Given the description of an element on the screen output the (x, y) to click on. 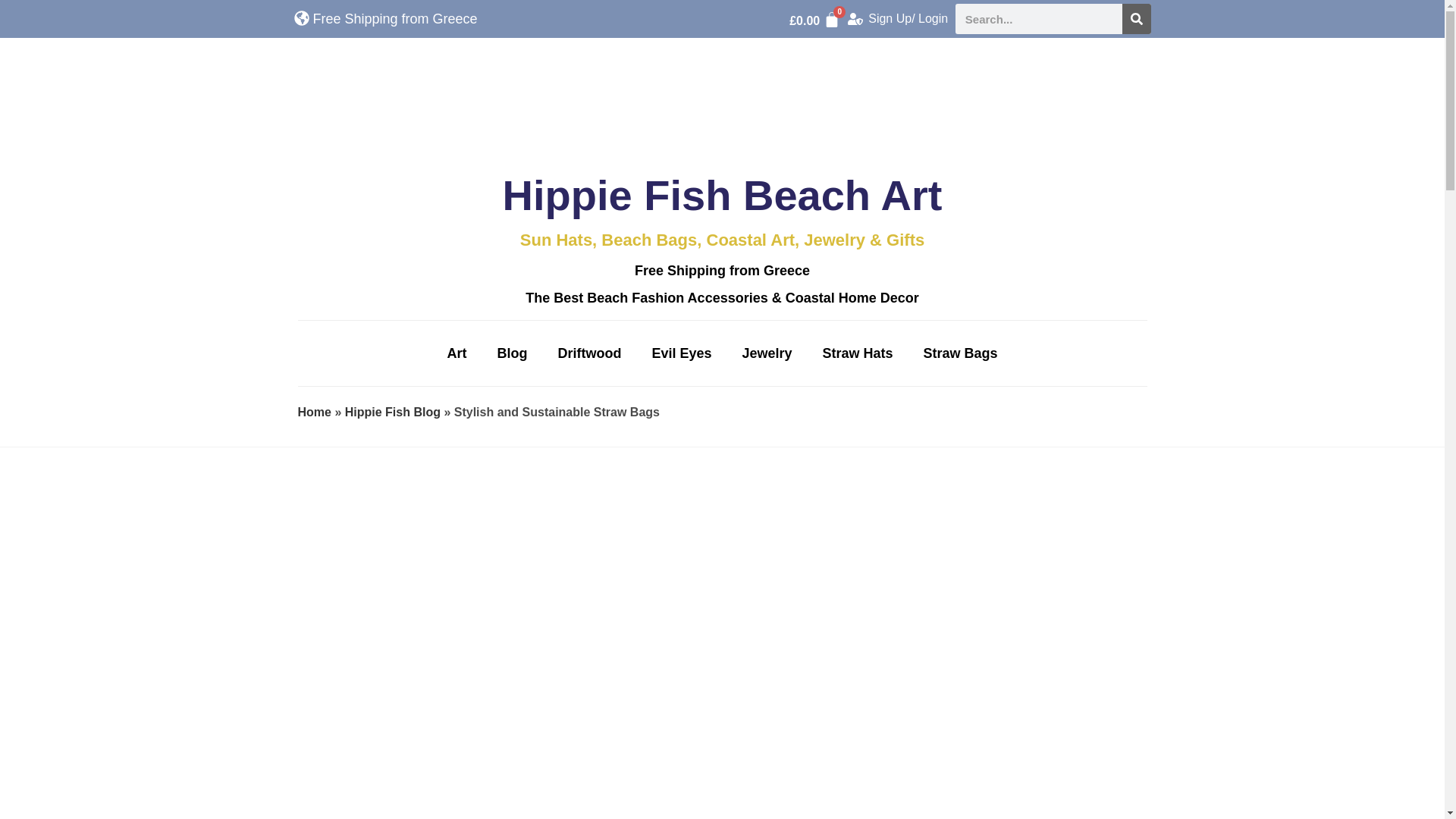
Straw Bags (960, 353)
Jewelry (766, 353)
Home (313, 411)
Blog (511, 353)
Art (455, 353)
Straw Hats (856, 353)
Driftwood (588, 353)
Evil Eyes (681, 353)
Hippie Fish Blog (393, 411)
